Given the description of an element on the screen output the (x, y) to click on. 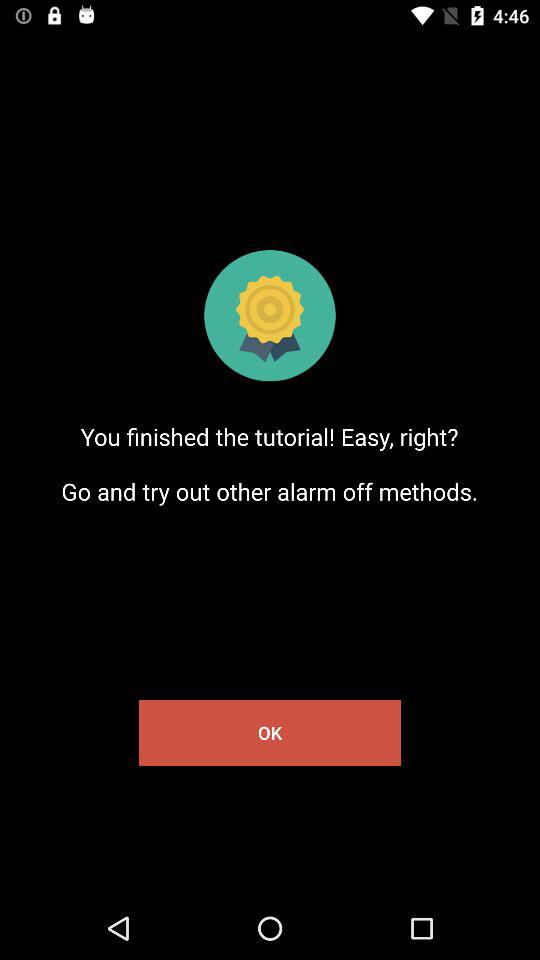
choose ok item (269, 732)
